Given the description of an element on the screen output the (x, y) to click on. 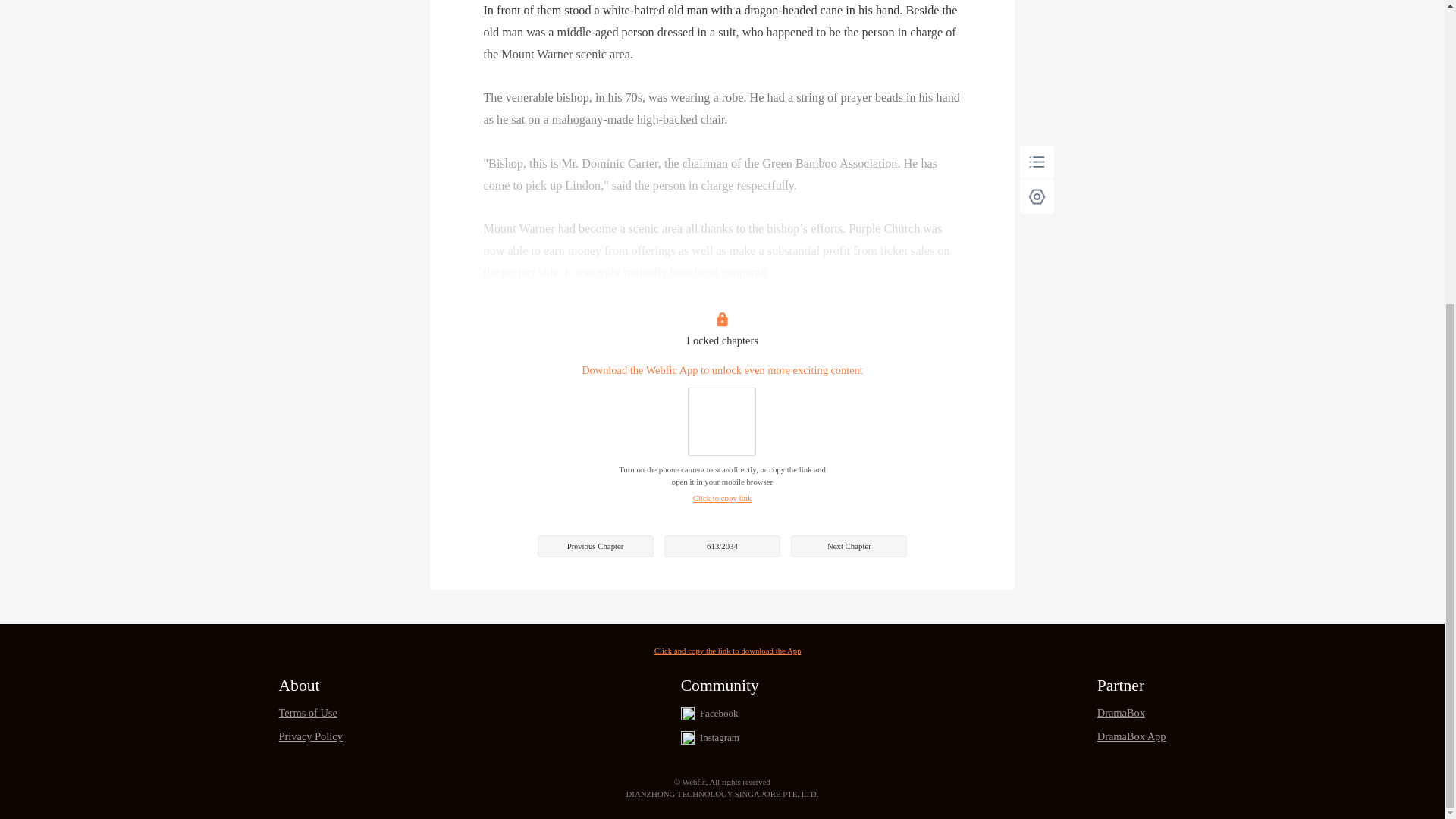
DramaBox (1131, 712)
Facebook (719, 713)
Next Chapter (848, 546)
Terms of Use (310, 712)
DramaBox App (1131, 736)
Privacy Policy (310, 736)
Instagram (719, 737)
Previous Chapter (595, 546)
